Given the description of an element on the screen output the (x, y) to click on. 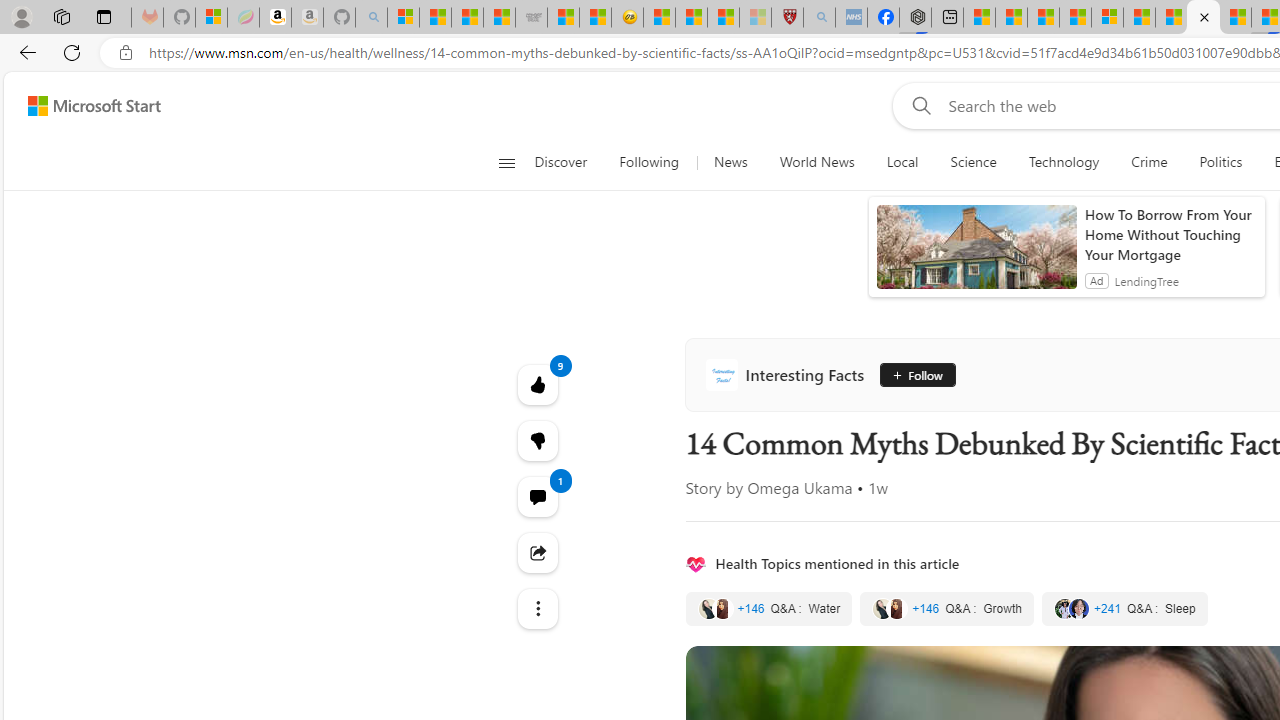
Politics (1220, 162)
Technology (1064, 162)
Share this story (537, 552)
Technology (1063, 162)
Science (973, 162)
Growth (947, 608)
